Given the description of an element on the screen output the (x, y) to click on. 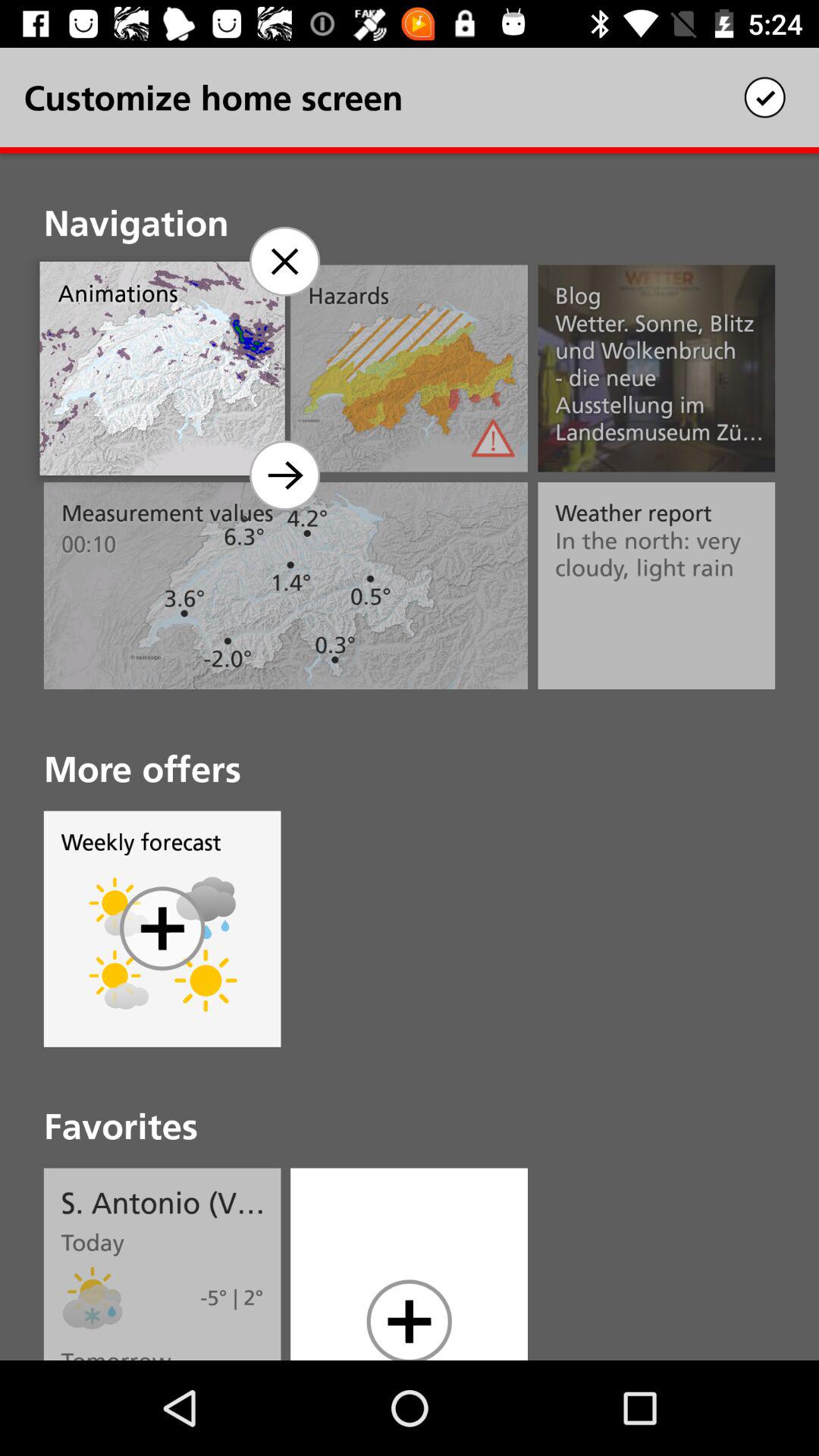
select the item above the more offers icon (284, 475)
